Given the description of an element on the screen output the (x, y) to click on. 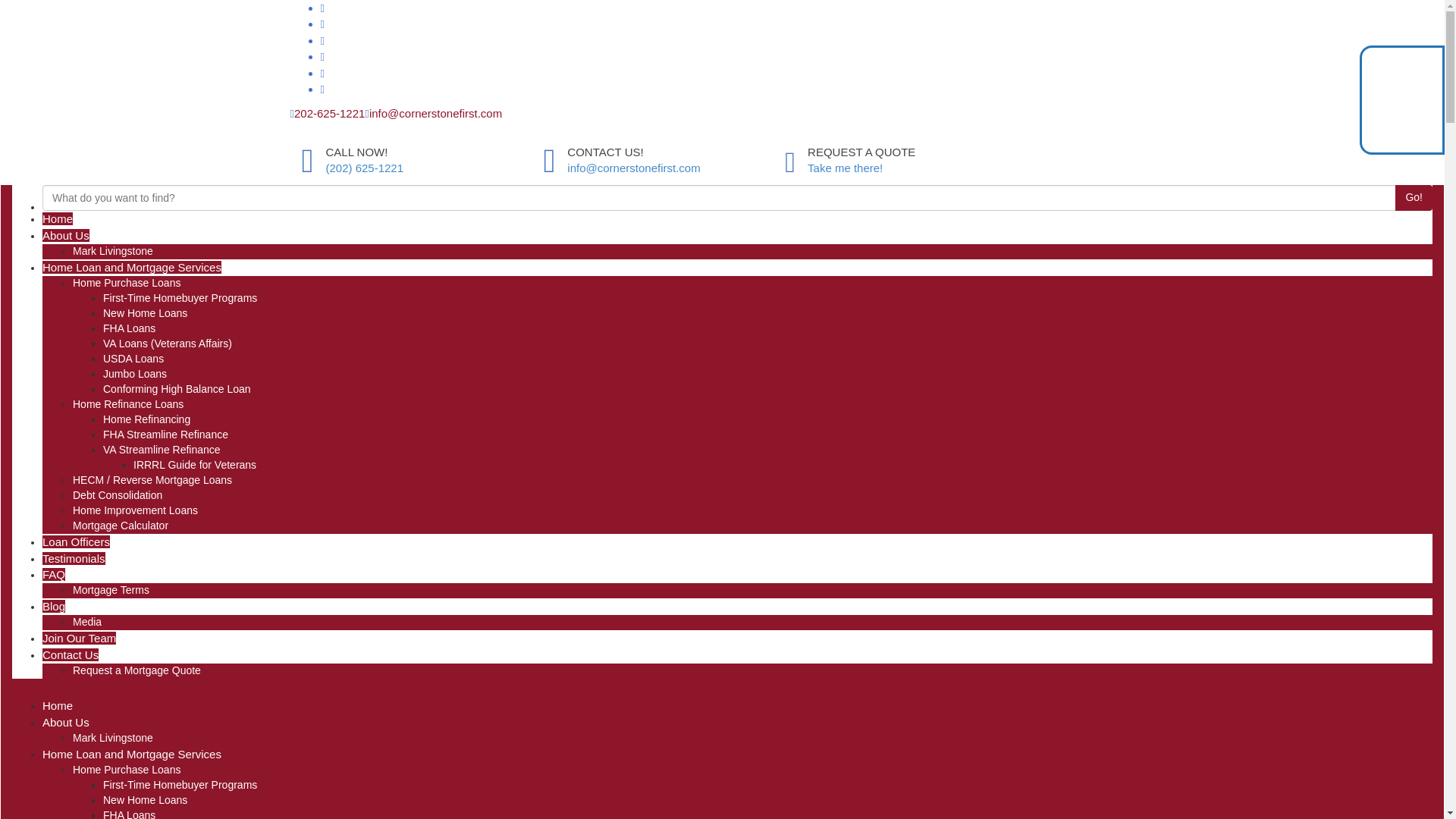
REQUEST A QUOTE (861, 151)
New Home Loans (145, 313)
Home Refinancing (146, 419)
IRRRL Guide for Veterans (194, 464)
FHA Loans (129, 328)
Mark Livingstone (112, 250)
Jumbo Loans (135, 373)
202-625-1221 (329, 113)
Home Loan and Mortgage Services (131, 267)
Take me there! (845, 167)
Conforming High Balance Loan (176, 388)
Home Refinance Loans (127, 404)
USDA Loans (133, 358)
Home Purchase Loans (126, 282)
Home (57, 218)
